Given the description of an element on the screen output the (x, y) to click on. 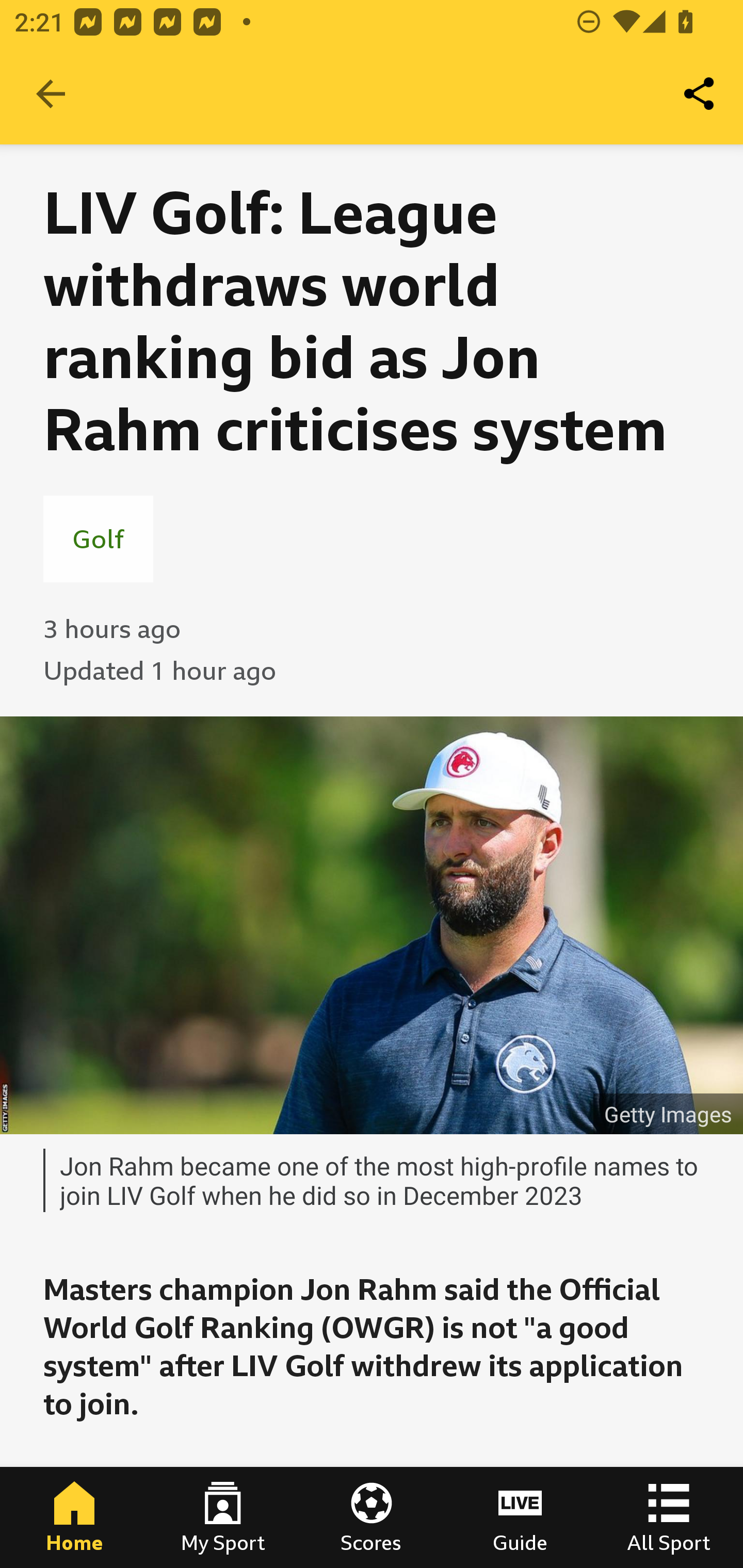
Navigate up (50, 93)
Share (699, 93)
Golf (98, 538)
My Sport (222, 1517)
Scores (371, 1517)
Guide (519, 1517)
All Sport (668, 1517)
